Given the description of an element on the screen output the (x, y) to click on. 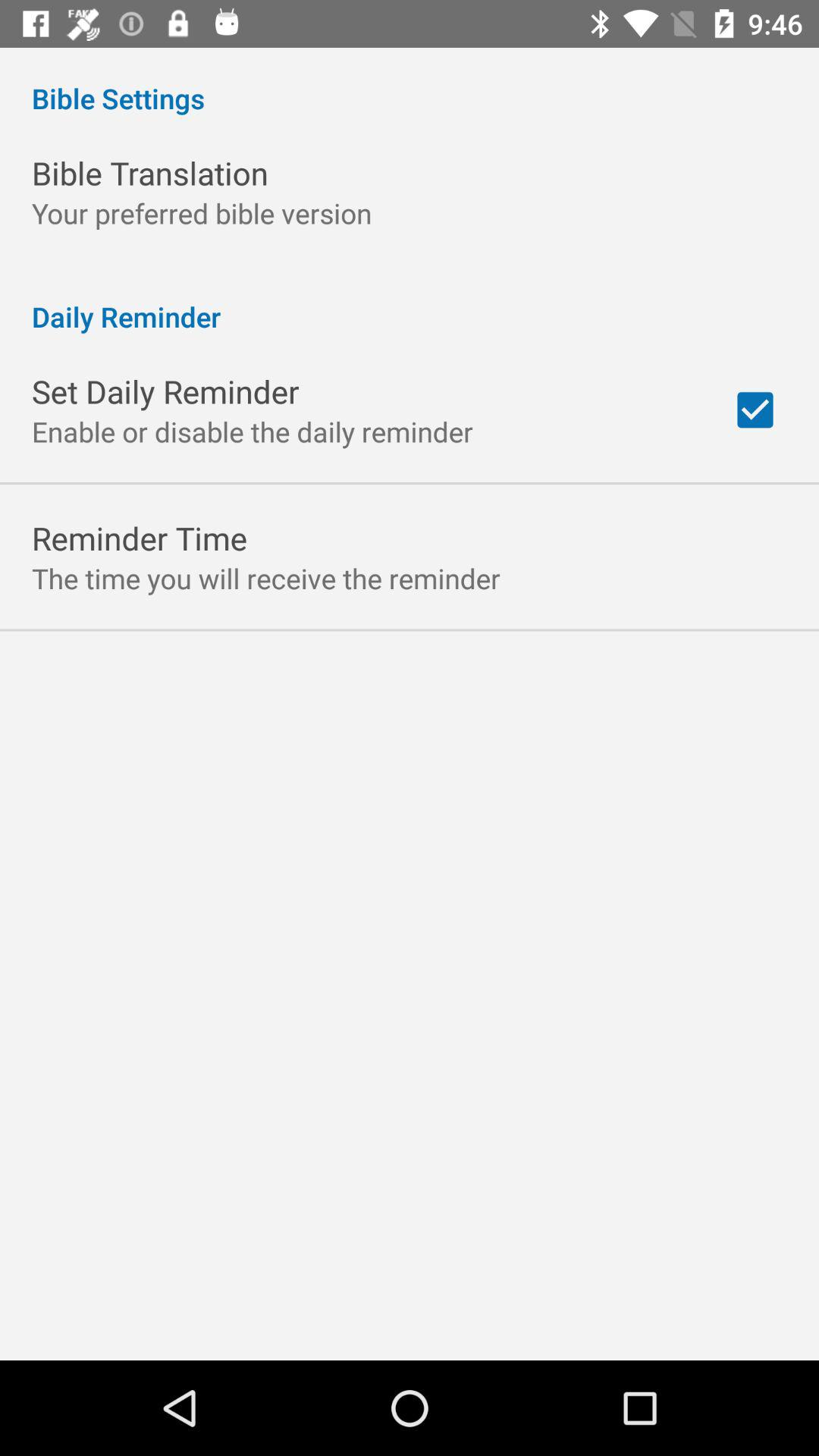
jump to the the time you icon (265, 578)
